Given the description of an element on the screen output the (x, y) to click on. 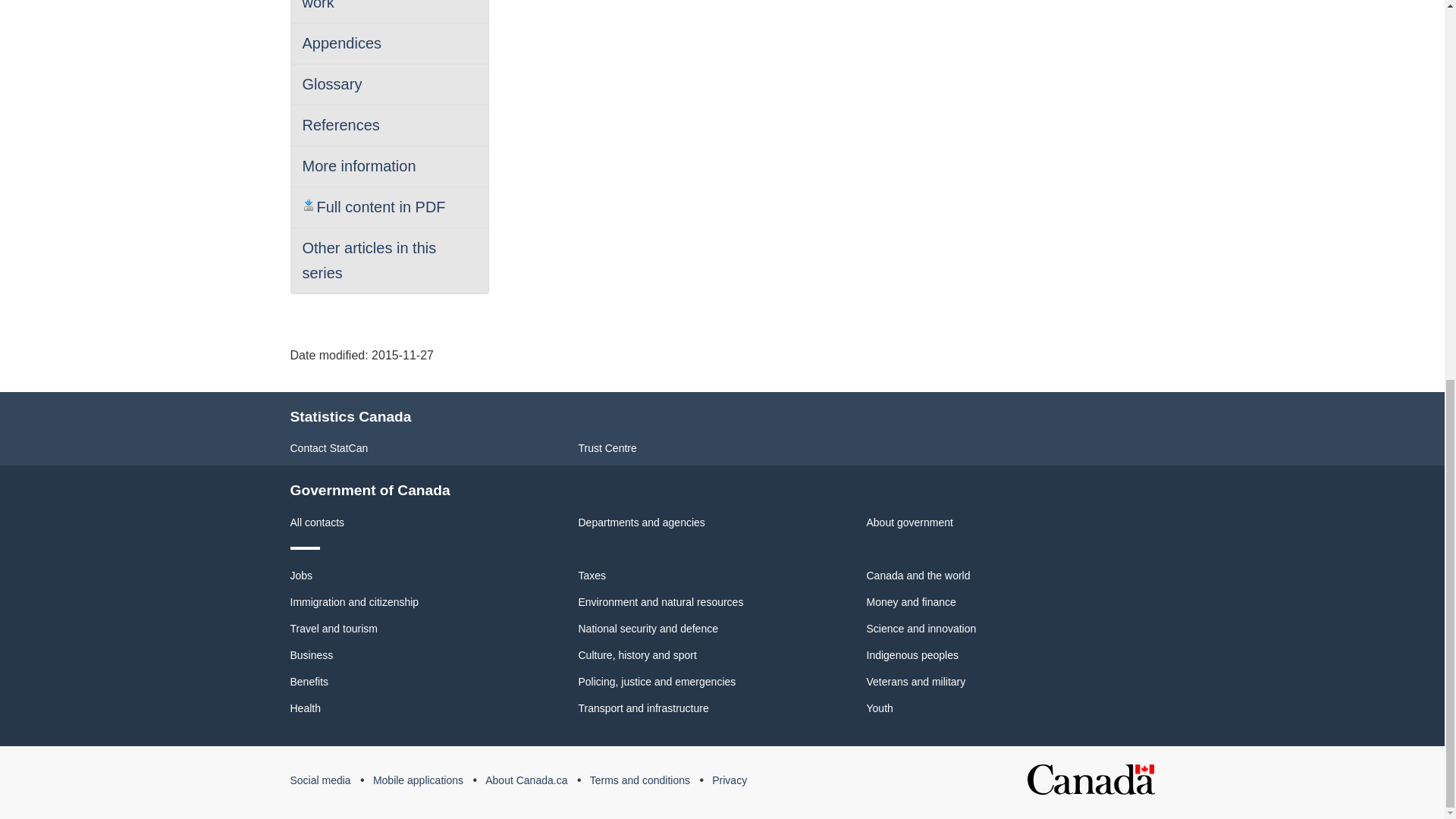
Other articles in this series (368, 260)
References (339, 125)
Full content in PDF (373, 207)
Conclusions and future work (379, 5)
Appendices (341, 43)
Glossary (331, 84)
More information (357, 166)
